Given the description of an element on the screen output the (x, y) to click on. 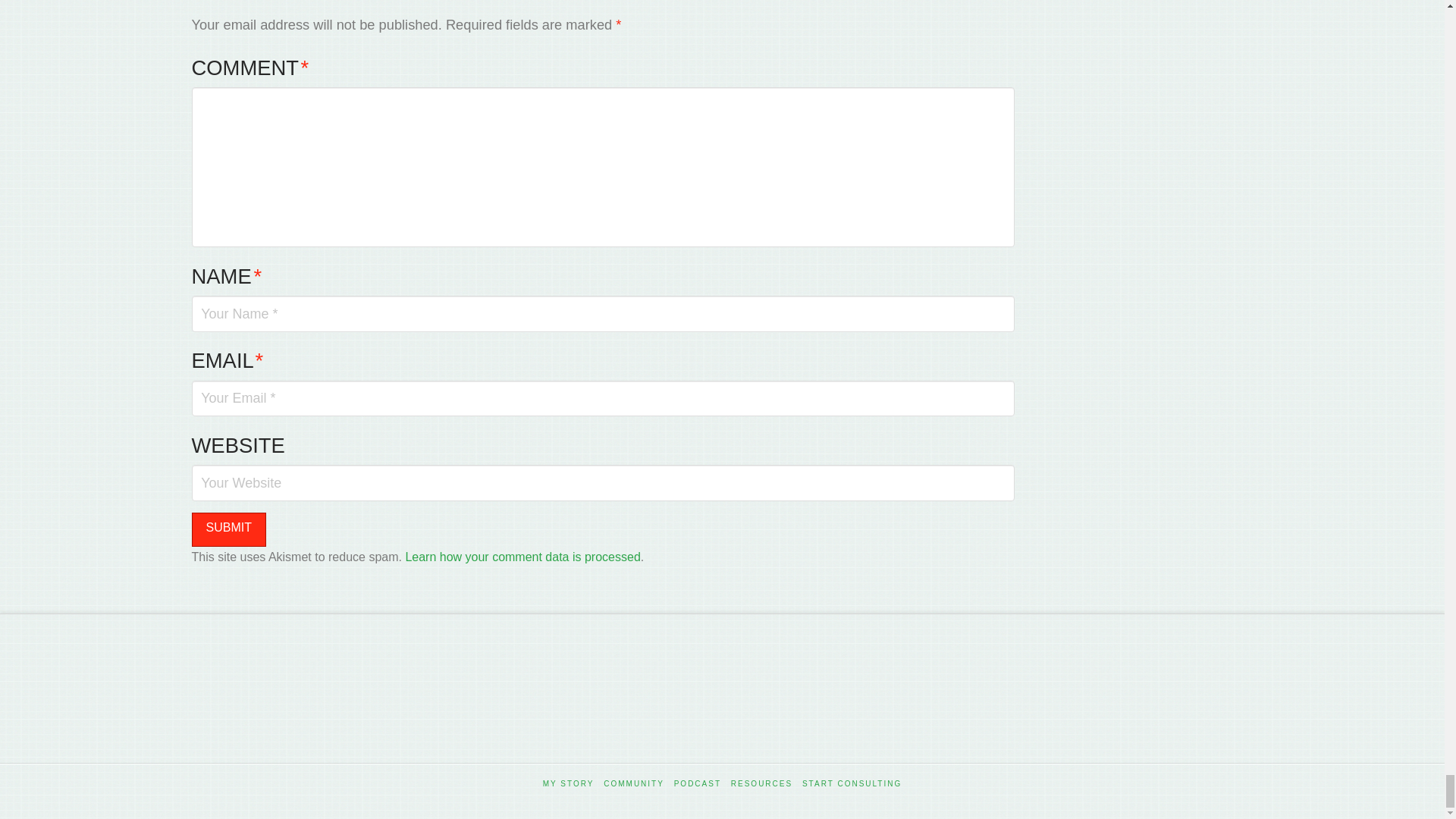
RESOURCES (761, 783)
PODCAST (697, 783)
Submit (227, 529)
COMMUNITY (633, 783)
Submit (227, 529)
MY STORY (568, 783)
START CONSULTING (851, 783)
Learn how your comment data is processed (522, 556)
